Given the description of an element on the screen output the (x, y) to click on. 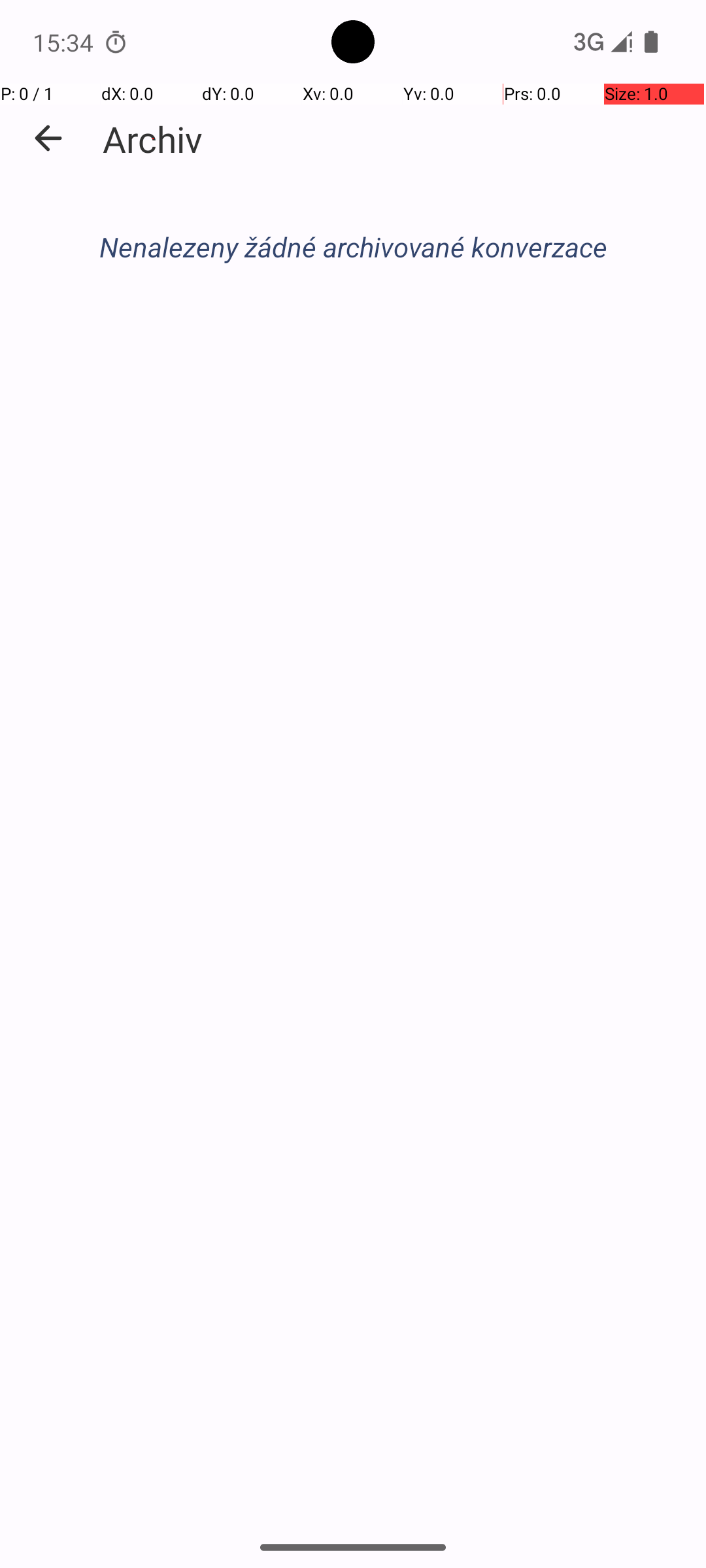
Archiv Element type: android.widget.TextView (152, 138)
Nenalezeny žádné archivované konverzace Element type: android.widget.TextView (353, 246)
